Given the description of an element on the screen output the (x, y) to click on. 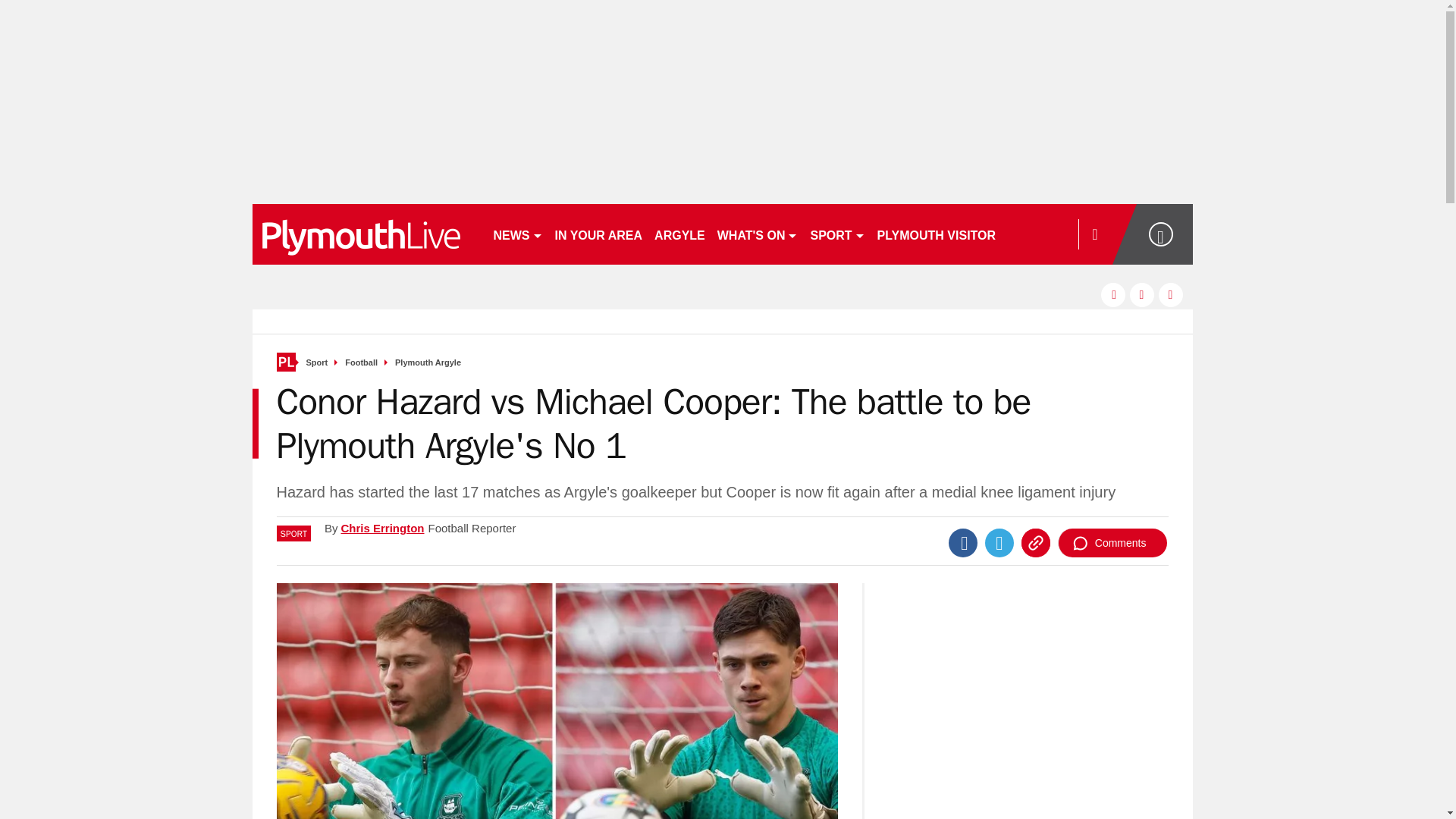
Comments (1112, 542)
plymouthherald (365, 233)
SPORT (836, 233)
ARGYLE (679, 233)
PLYMOUTH VISITOR GUIDE (956, 233)
NEWS (517, 233)
facebook (1112, 294)
twitter (1141, 294)
WHAT'S ON (758, 233)
Twitter (999, 542)
instagram (1170, 294)
IN YOUR AREA (598, 233)
Facebook (962, 542)
